Given the description of an element on the screen output the (x, y) to click on. 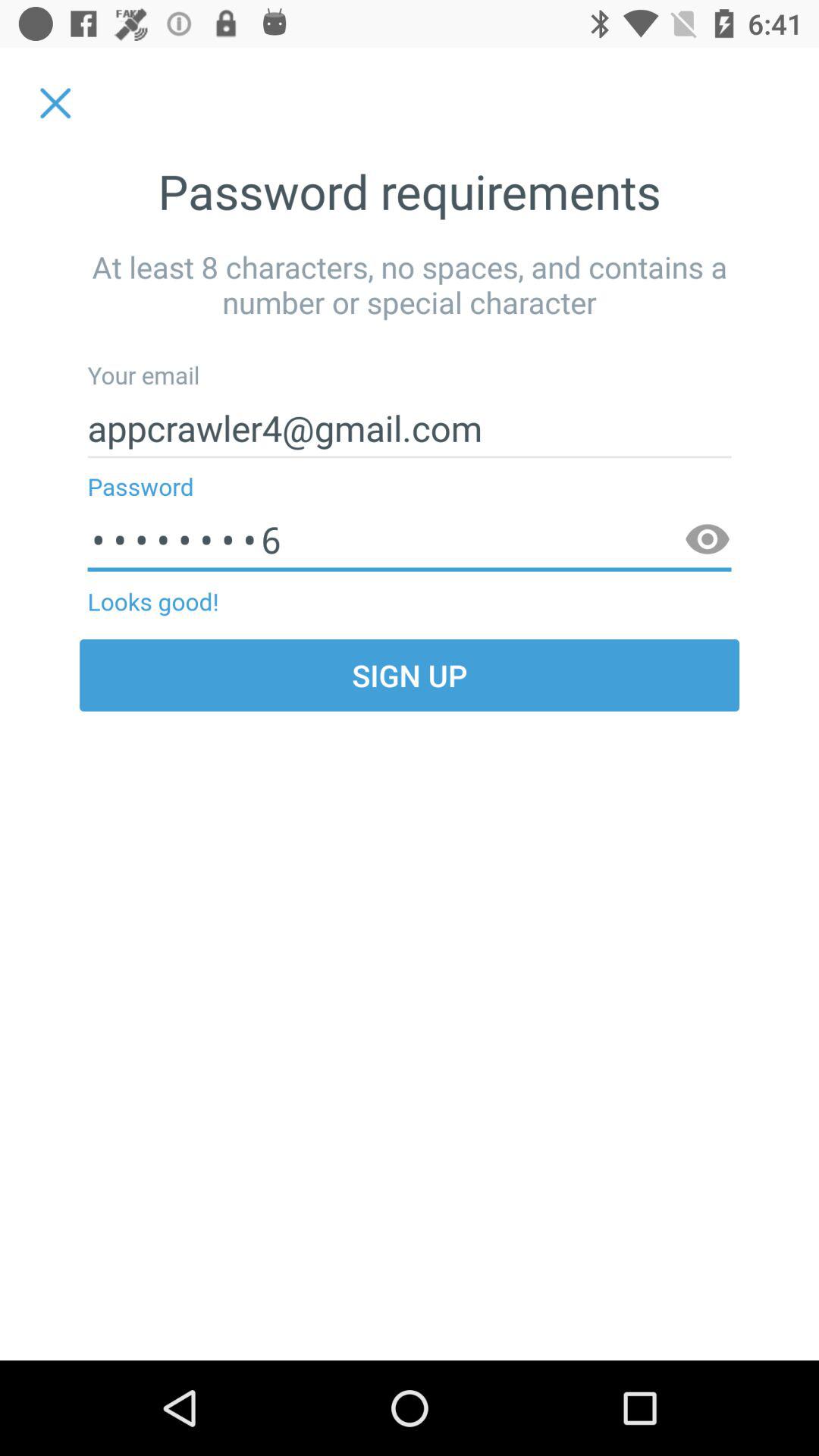
turn off the crowd3116 icon (409, 540)
